Given the description of an element on the screen output the (x, y) to click on. 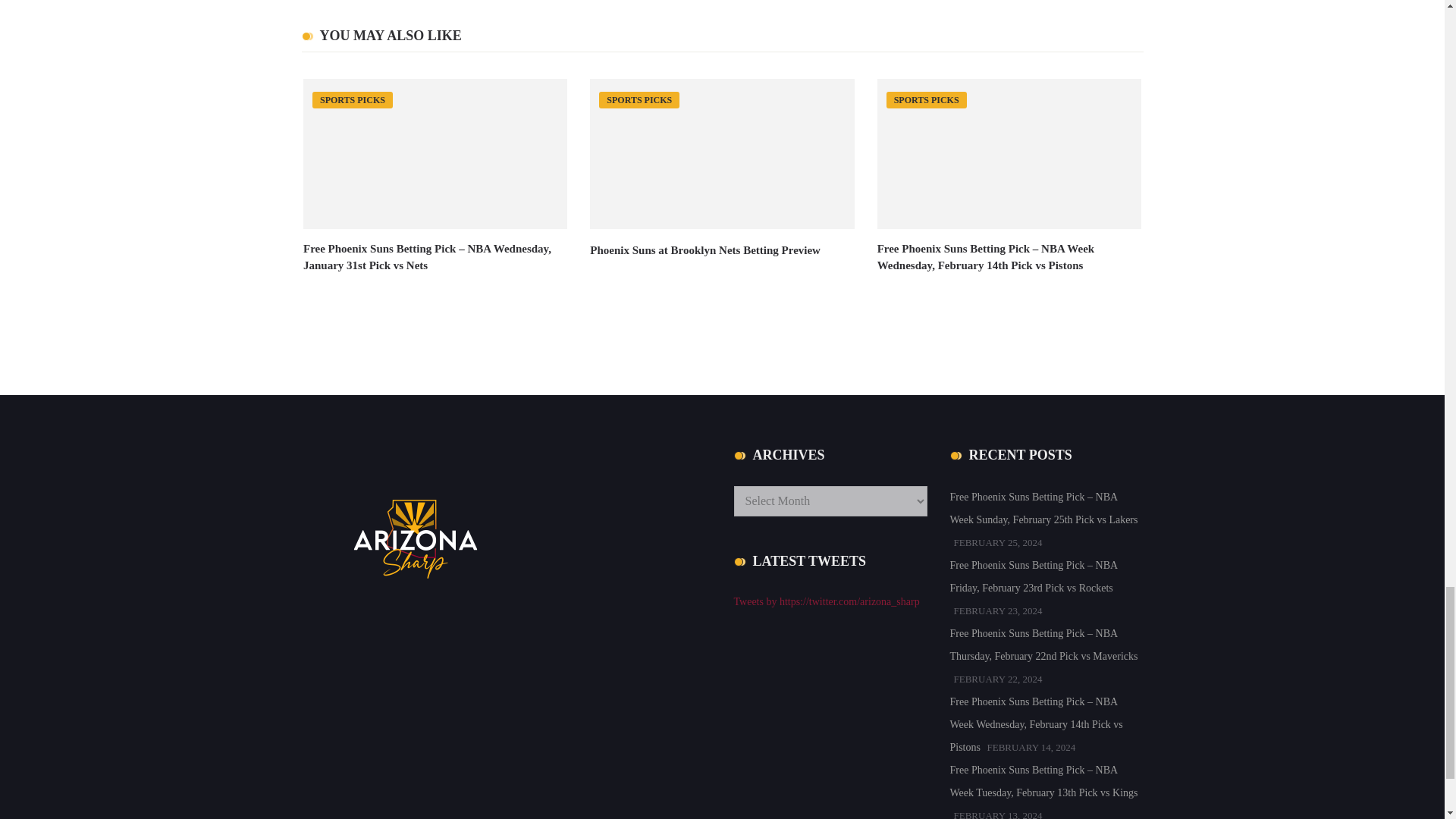
SPORTS PICKS (638, 99)
SPORTS PICKS (926, 99)
Phoenix Suns at Brooklyn Nets Betting Preview (705, 250)
SPORTS PICKS (353, 99)
